Given the description of an element on the screen output the (x, y) to click on. 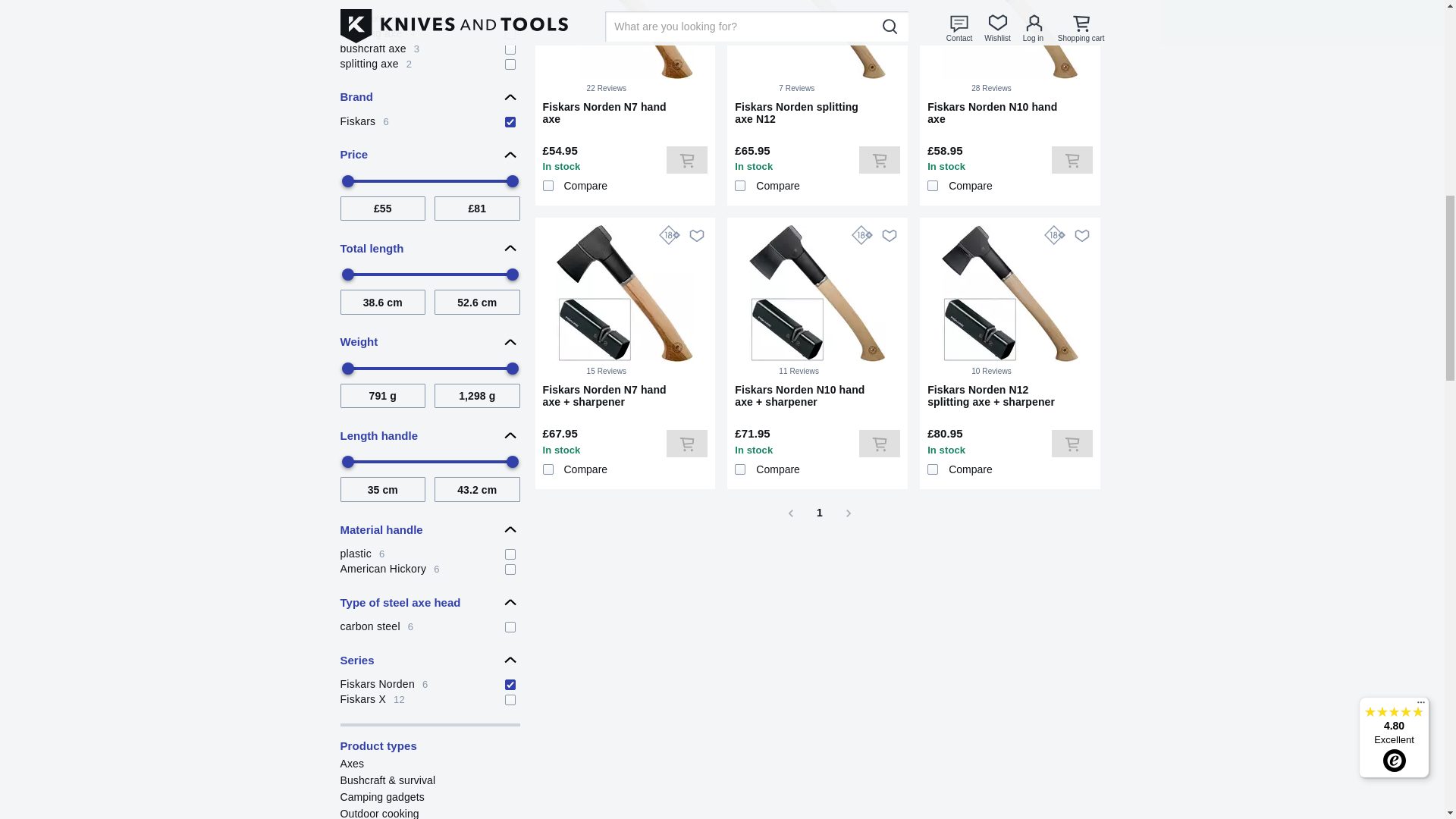
35 cm (429, 119)
Brand (382, 489)
43.2 cm (429, 31)
Type (429, 96)
1,298 g (429, 46)
